Given the description of an element on the screen output the (x, y) to click on. 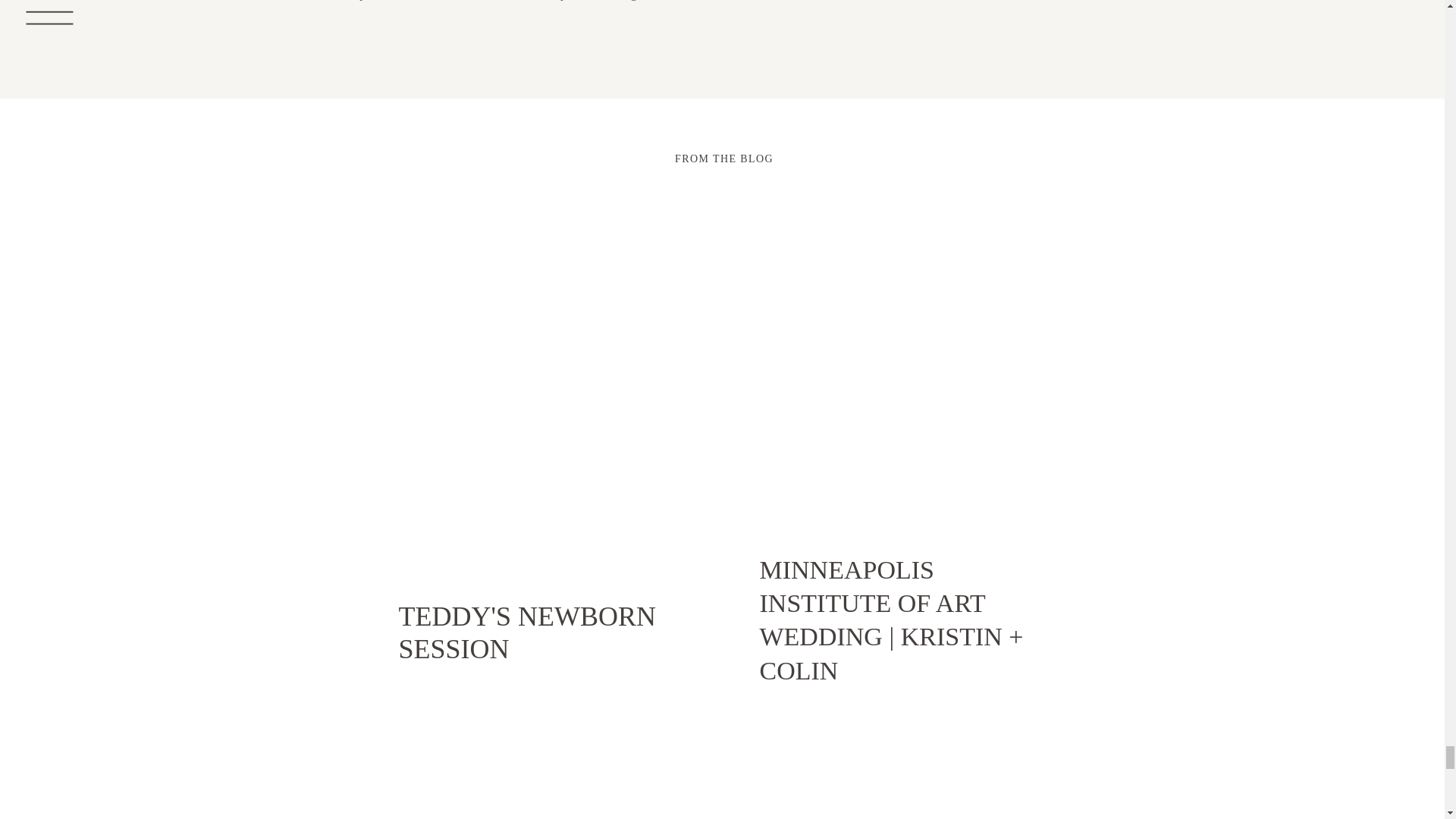
TEDDY'S NEWBORN SESSION (536, 631)
